Given the description of an element on the screen output the (x, y) to click on. 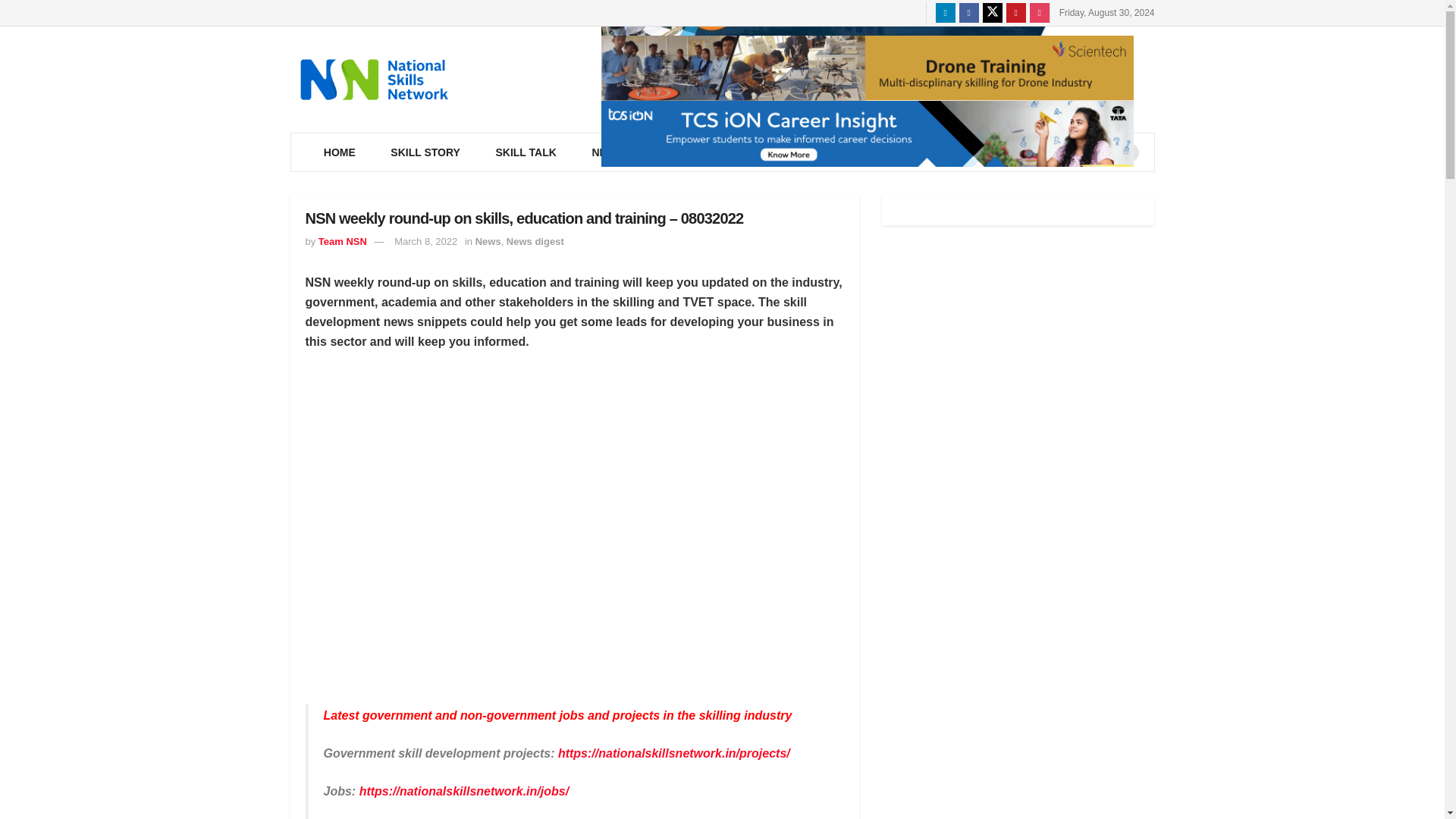
NEWS (609, 152)
SKILL2JOBS (807, 152)
SKILL STORY (424, 152)
SUCCESS STORIES (1024, 152)
Drone PNG (865, 68)
ABOUT US (908, 152)
SKILL TALK (525, 152)
HOME (339, 152)
RESOURCES (700, 152)
